Given the description of an element on the screen output the (x, y) to click on. 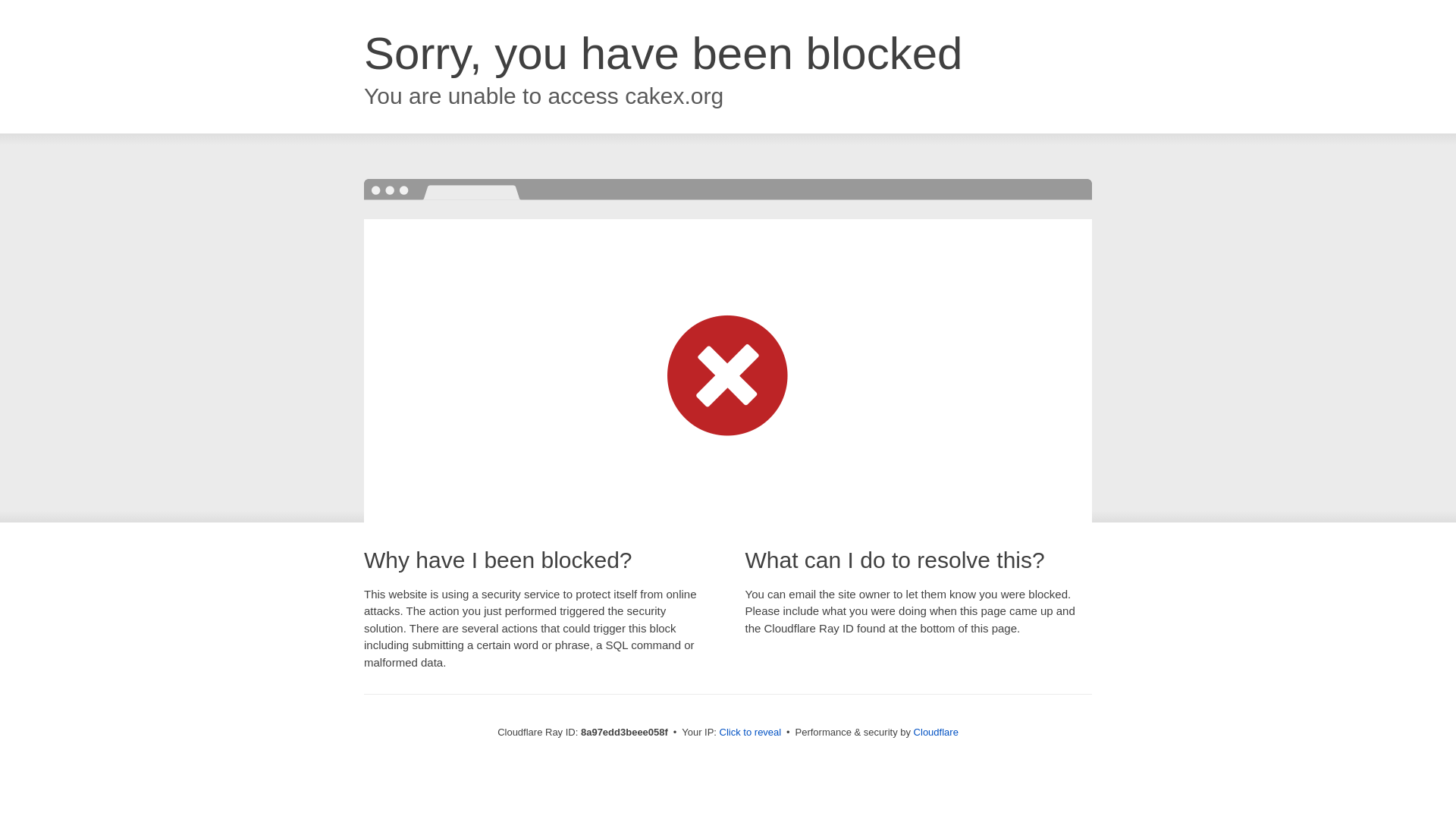
Cloudflare (936, 731)
Click to reveal (750, 732)
